Given the description of an element on the screen output the (x, y) to click on. 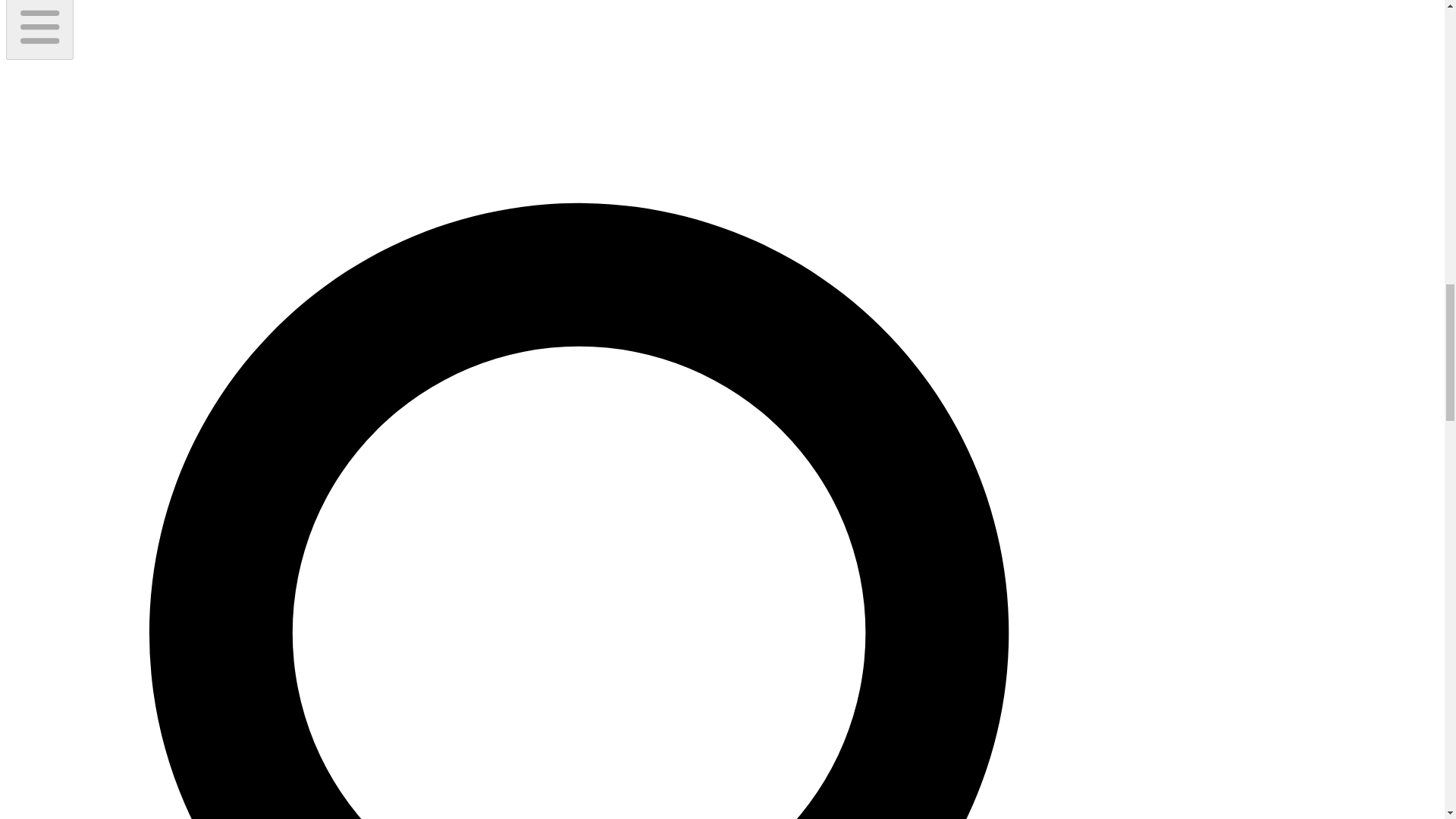
Open menu (39, 29)
